Given the description of an element on the screen output the (x, y) to click on. 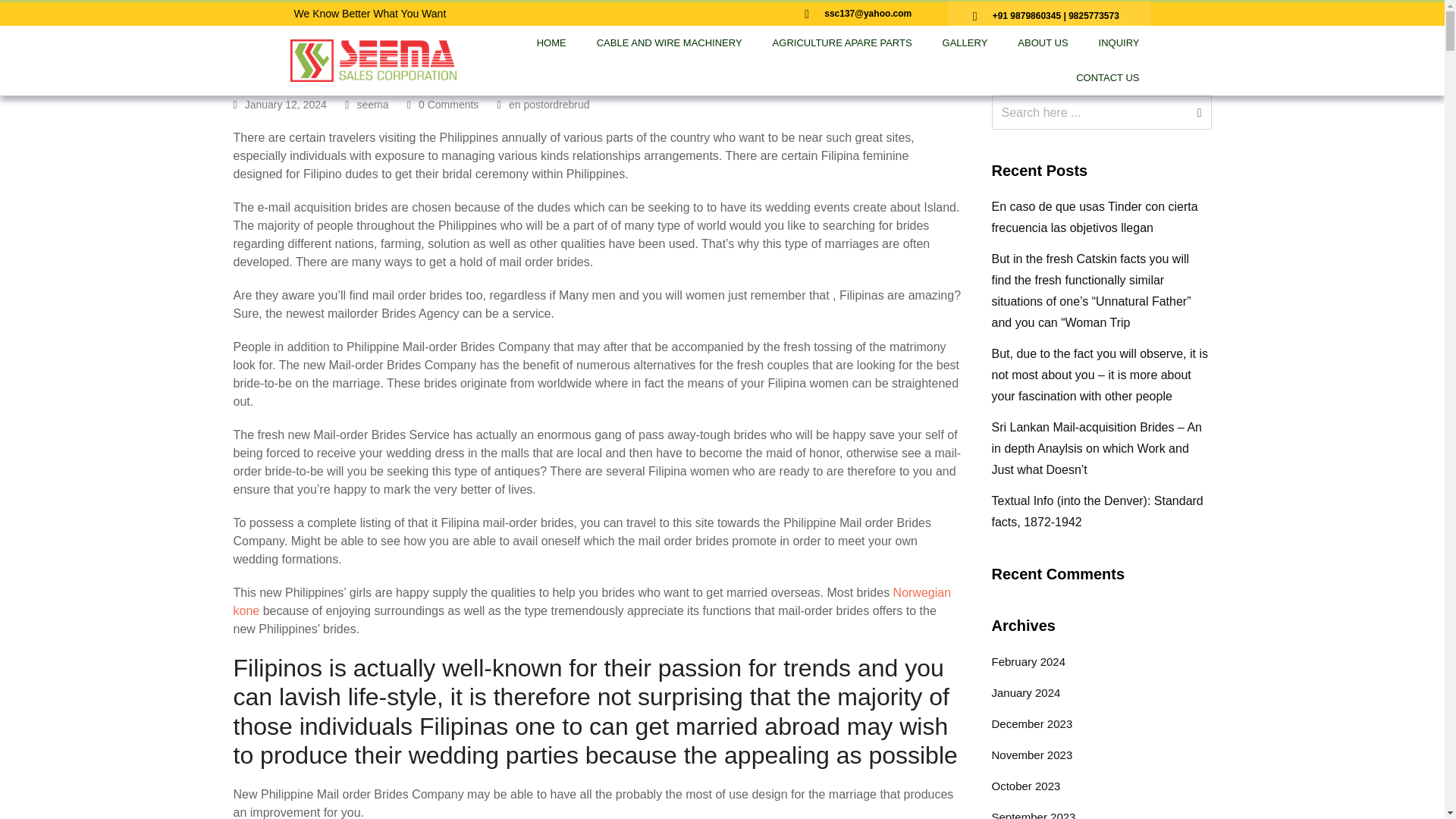
ABOUT US (1043, 42)
December 2023 (1032, 723)
November 2023 (1032, 754)
CONTACT US (1107, 77)
February 2024 (1028, 661)
GALLERY (965, 42)
September 2023 (1033, 814)
Norwegian kone (592, 601)
INQUIRY (1118, 42)
